Given the description of an element on the screen output the (x, y) to click on. 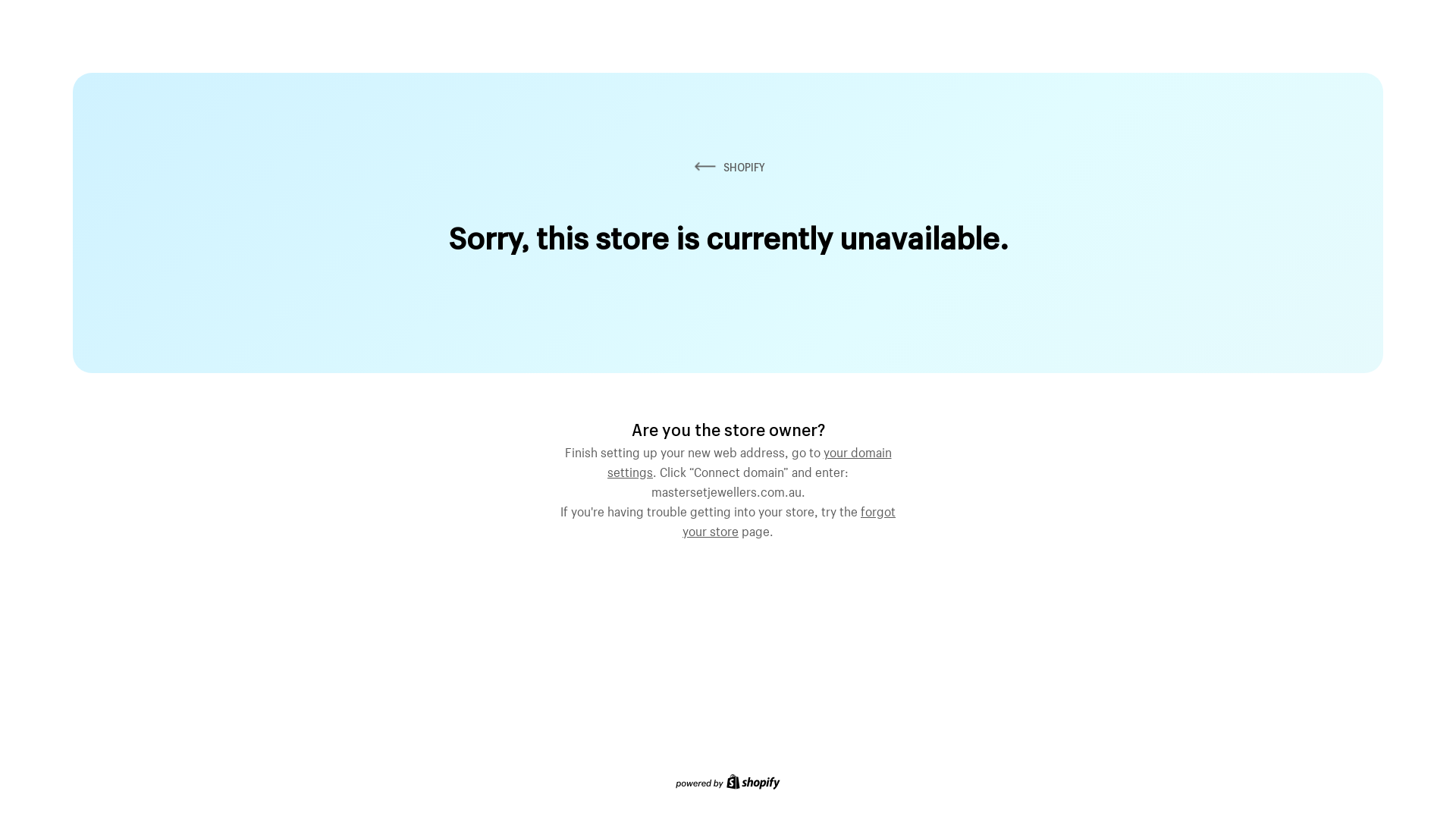
your domain settings Element type: text (749, 460)
SHOPIFY Element type: text (727, 167)
forgot your store Element type: text (788, 519)
